Given the description of an element on the screen output the (x, y) to click on. 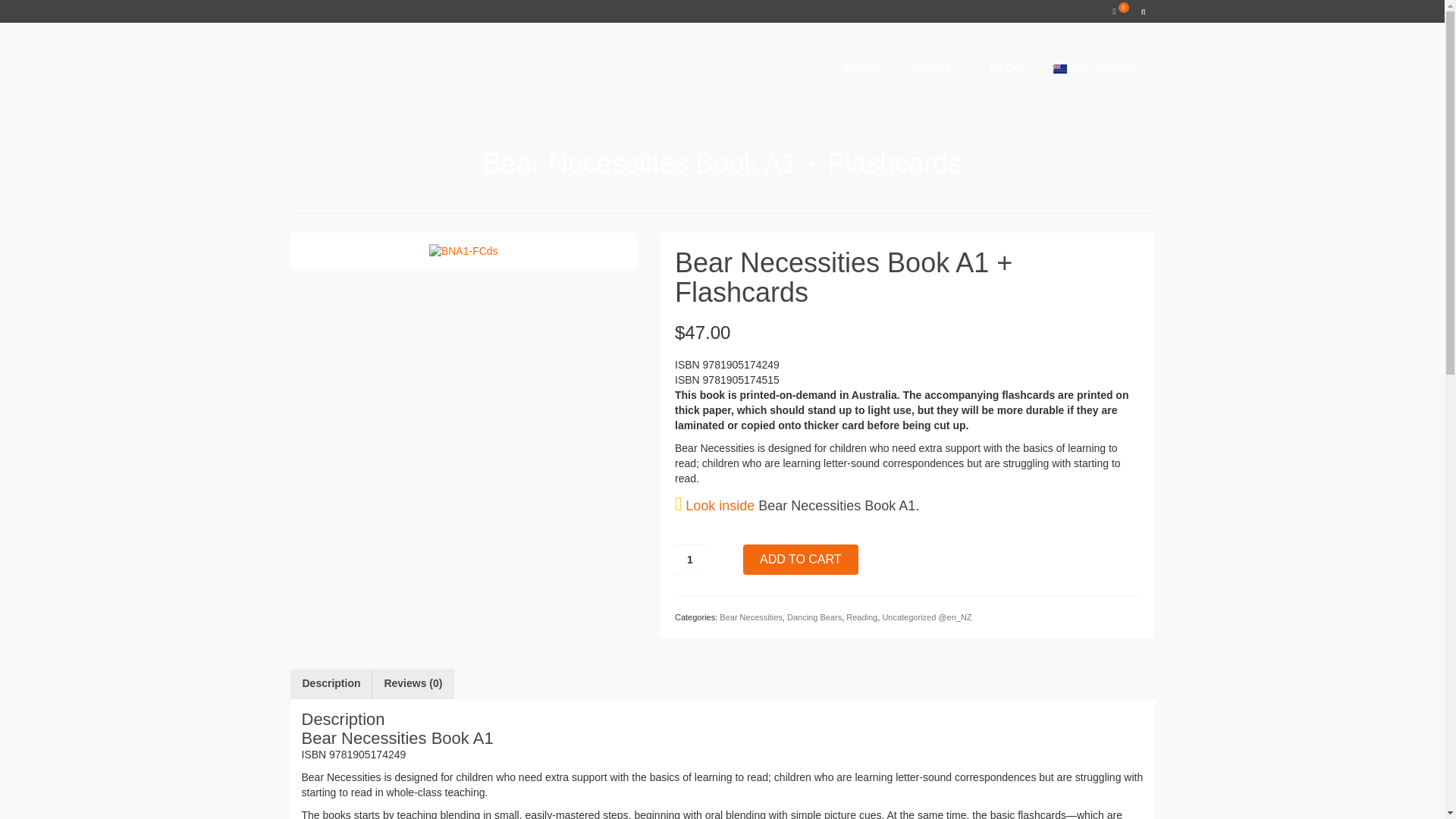
Dancing Bears (814, 616)
BNA1-FCds (463, 250)
New Zealand (1096, 67)
ADD TO CART (800, 559)
Description (331, 684)
Reading (861, 616)
0 (1120, 11)
1 (689, 559)
Bear Necessities (751, 616)
New Zealand (1096, 67)
